Given the description of an element on the screen output the (x, y) to click on. 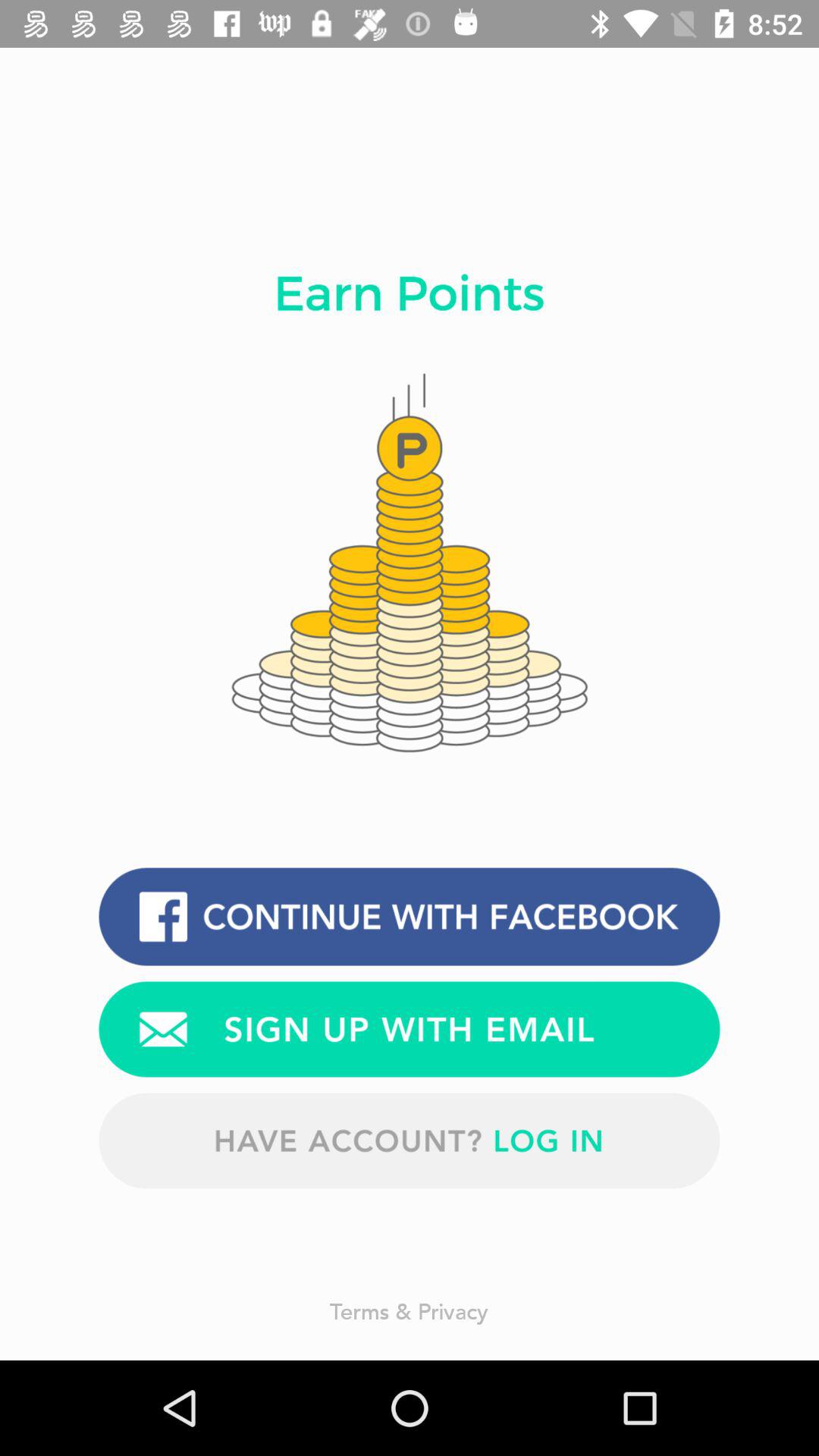
log in (409, 1140)
